Given the description of an element on the screen output the (x, y) to click on. 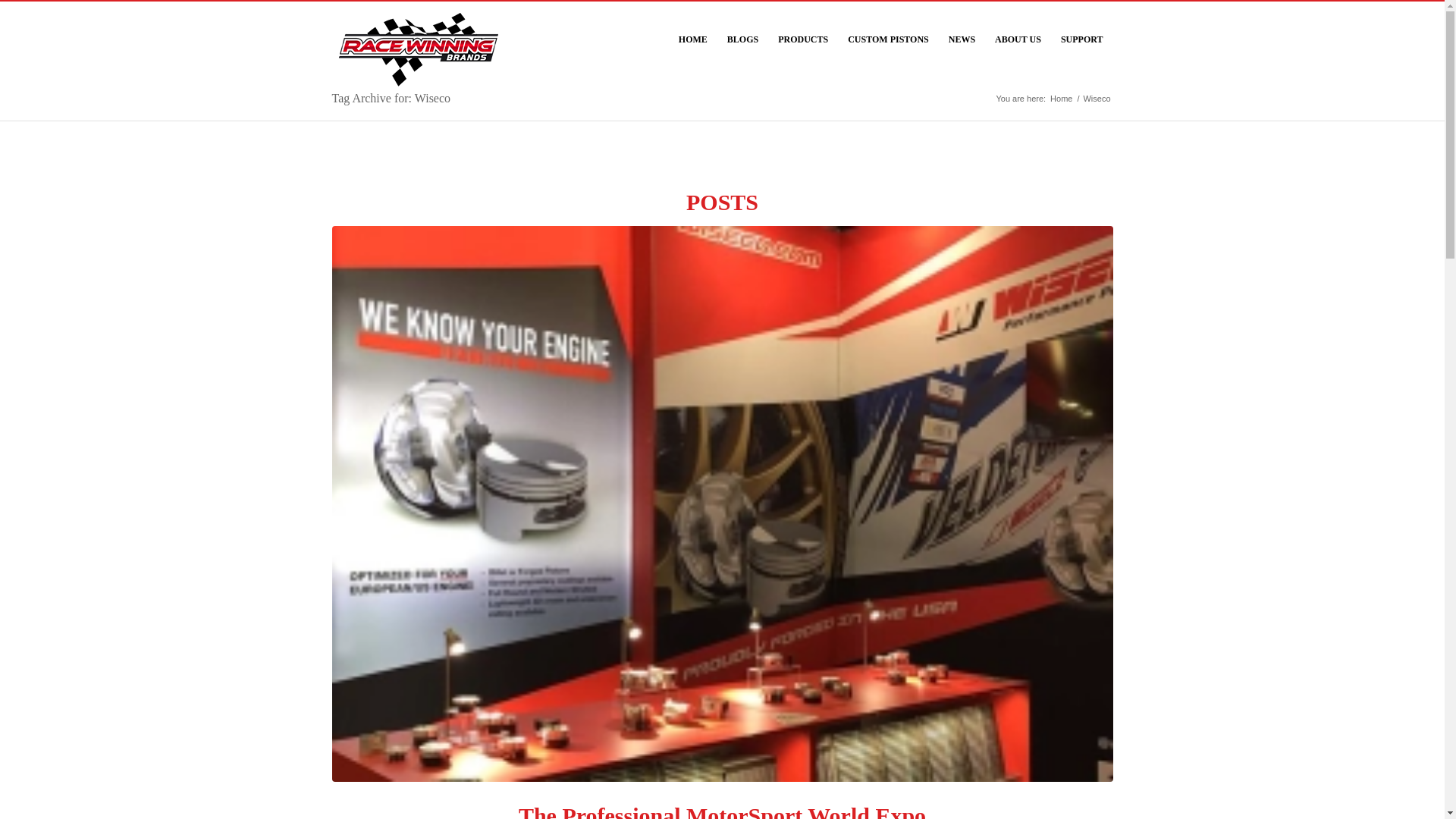
PRODUCTS (803, 38)
Permanent Link: Tag Archive for: Wiseco (391, 97)
CUSTOM PISTONS (888, 38)
Permanent Link: The Professional MotorSport World Expo 2018 (722, 811)
Tag Archive for: Wiseco (391, 97)
Race Winning Brands Europe (1061, 98)
Home (1061, 98)
